Given the description of an element on the screen output the (x, y) to click on. 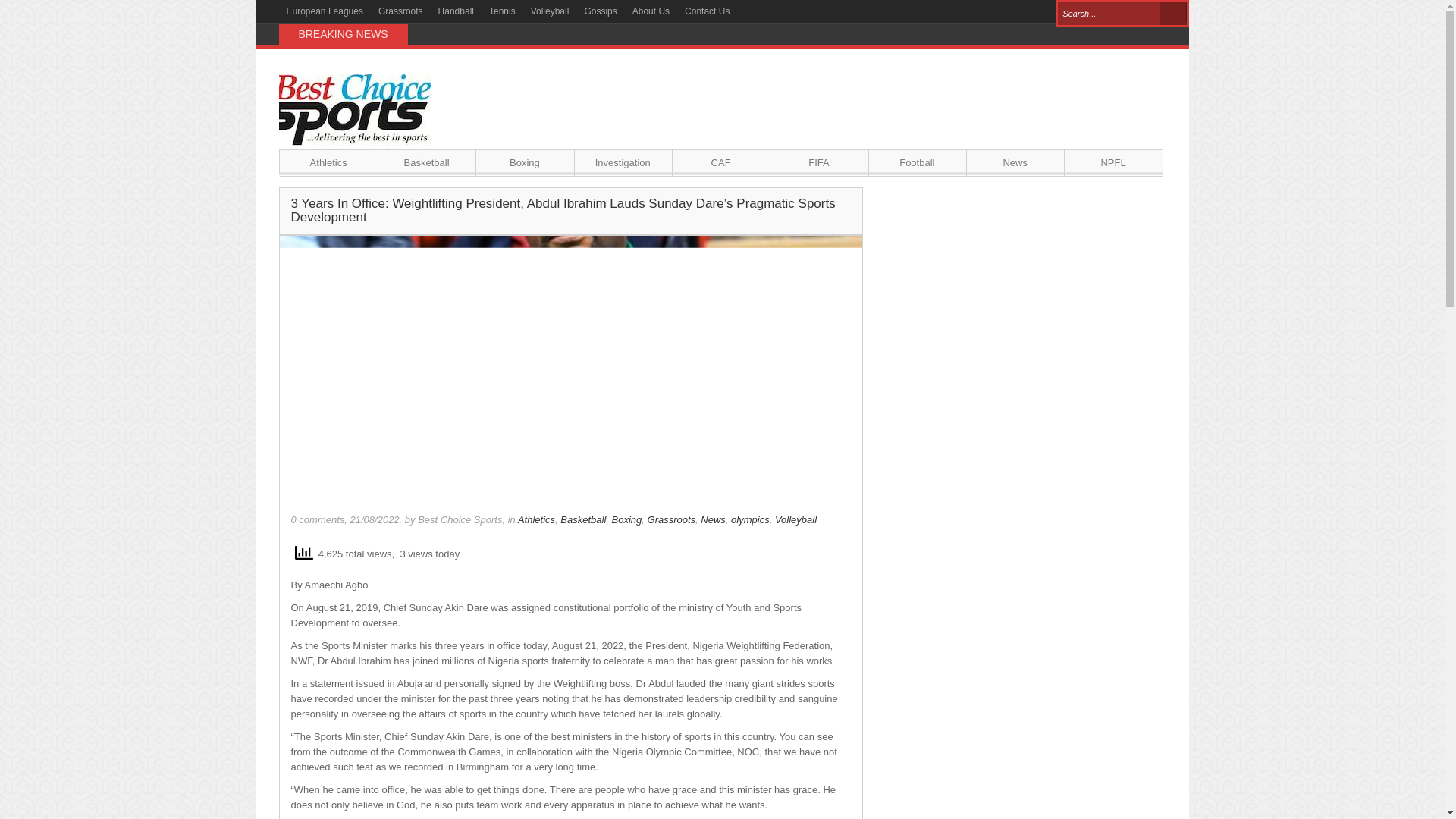
Boxing (524, 162)
Gossips (600, 11)
Volleyball (795, 519)
Athletics (536, 519)
FIFA (818, 162)
Handball (455, 11)
Contact Us (706, 11)
Athletics (328, 162)
Search (1173, 13)
Basketball (426, 162)
News (1015, 162)
Boxing (626, 519)
Tennis (501, 11)
Investigation (622, 162)
Volleyball (549, 11)
